Given the description of an element on the screen output the (x, y) to click on. 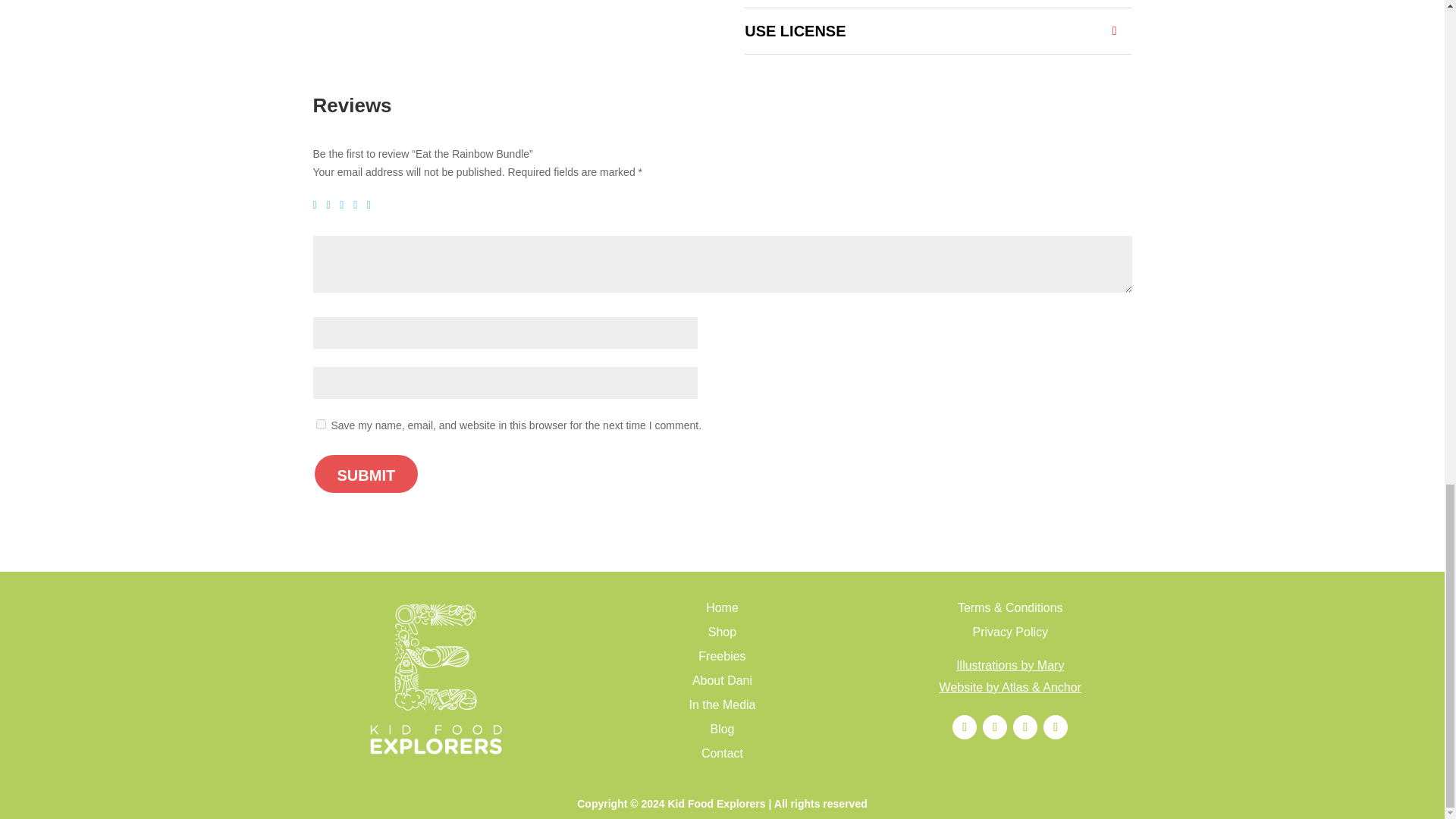
4 (358, 204)
Home (722, 607)
Follow on Pinterest (1024, 726)
Shop (721, 631)
1 (318, 204)
Follow on Youtube (1055, 726)
Contact (721, 753)
In the Media (721, 704)
3 (344, 204)
yes (319, 424)
Privacy Policy (1010, 631)
Follow on Amazon (994, 726)
About Dani (722, 680)
5 (371, 204)
Illustrations by Mary (1010, 665)
